Given the description of an element on the screen output the (x, y) to click on. 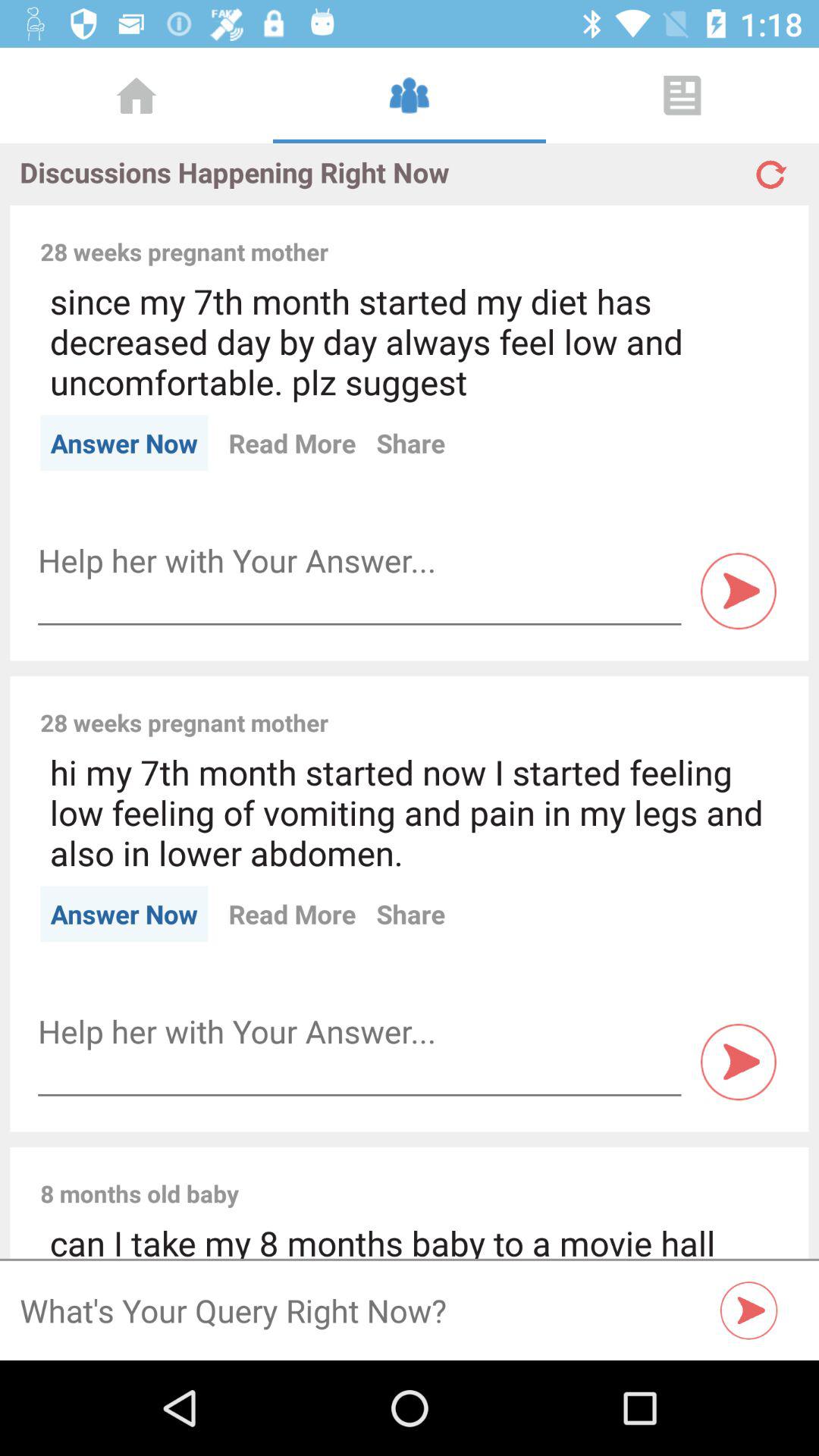
choose icon below 8 months old icon (409, 1238)
